Given the description of an element on the screen output the (x, y) to click on. 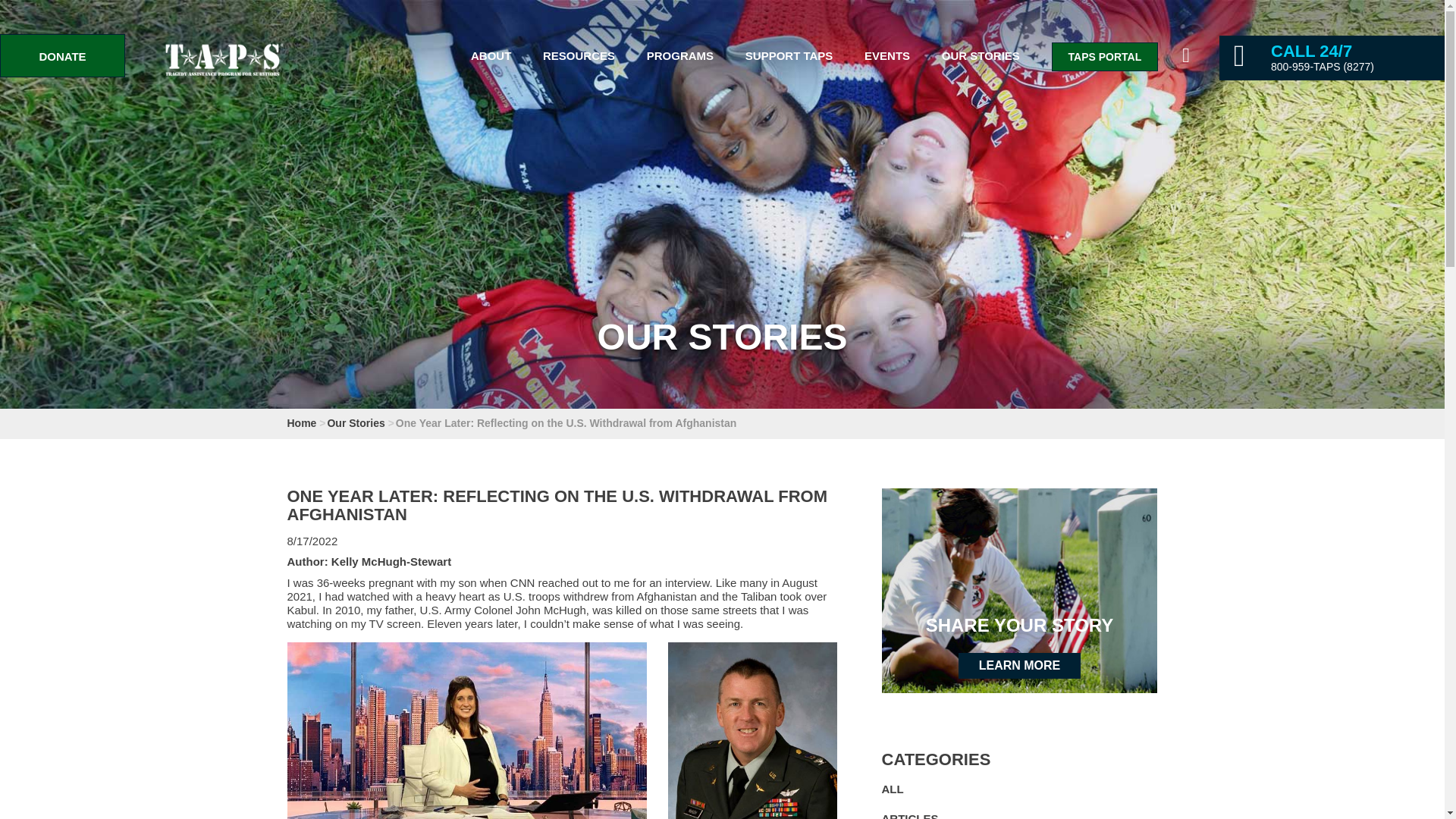
ABOUT (490, 55)
John McHugh (752, 730)
Kelly McHugh-Stewart at CNN (466, 730)
PROGRAMS (679, 55)
DONATE (62, 55)
RESOURCES (578, 55)
